Given the description of an element on the screen output the (x, y) to click on. 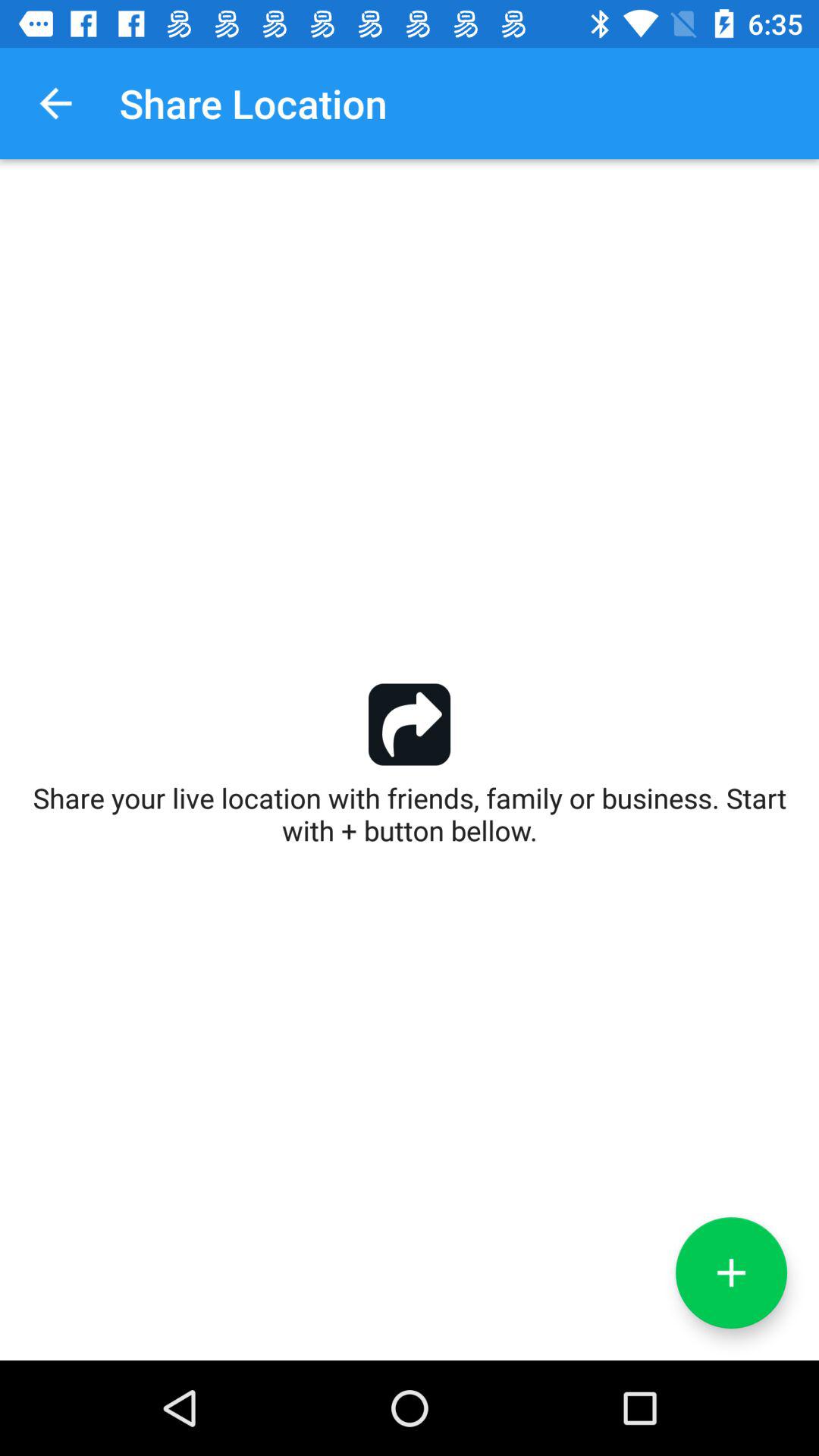
turn on the app next to the share location app (55, 103)
